Given the description of an element on the screen output the (x, y) to click on. 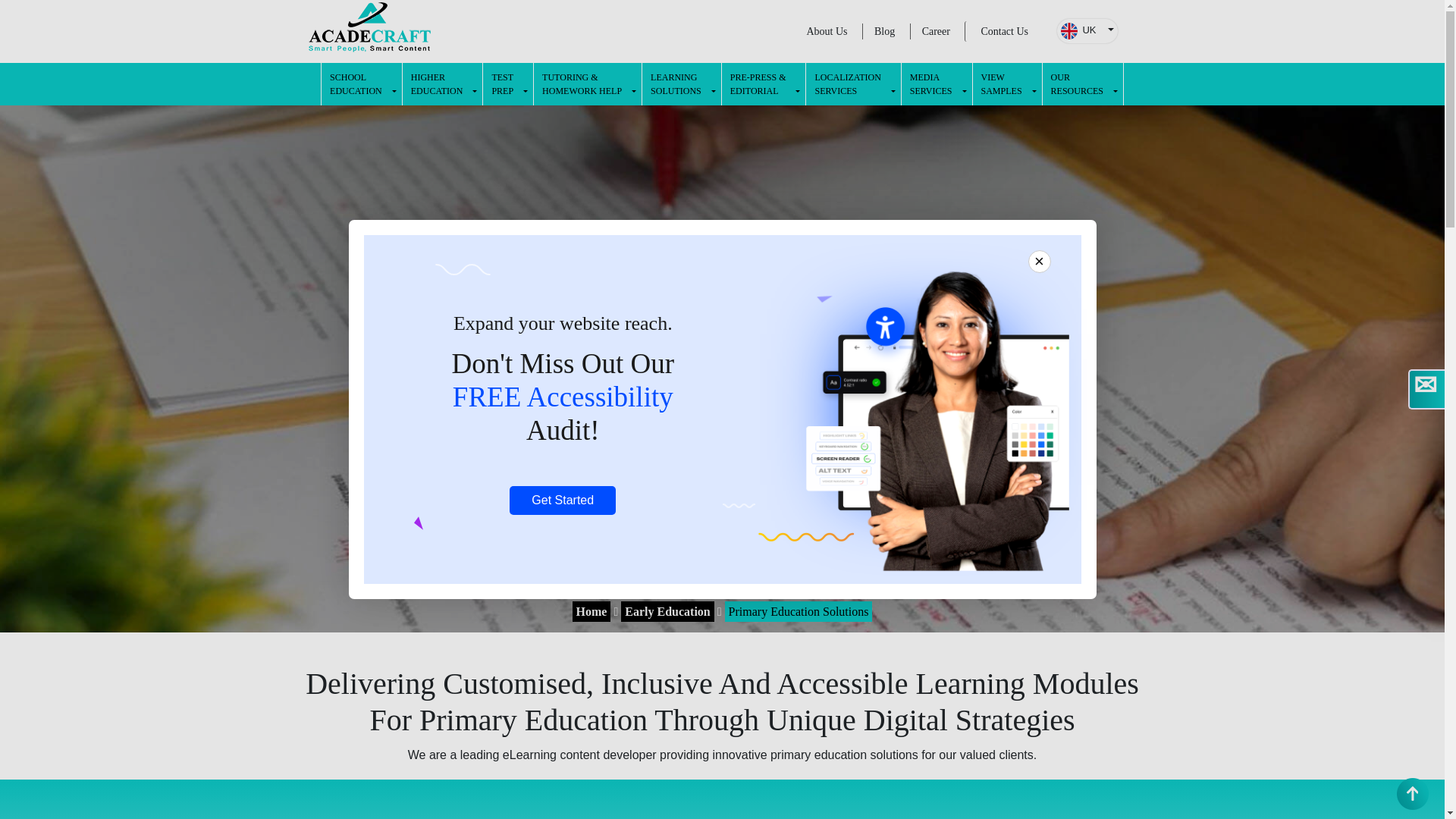
Contact Us (1003, 31)
Career (935, 31)
About Us (826, 31)
Blog (508, 84)
